Given the description of an element on the screen output the (x, y) to click on. 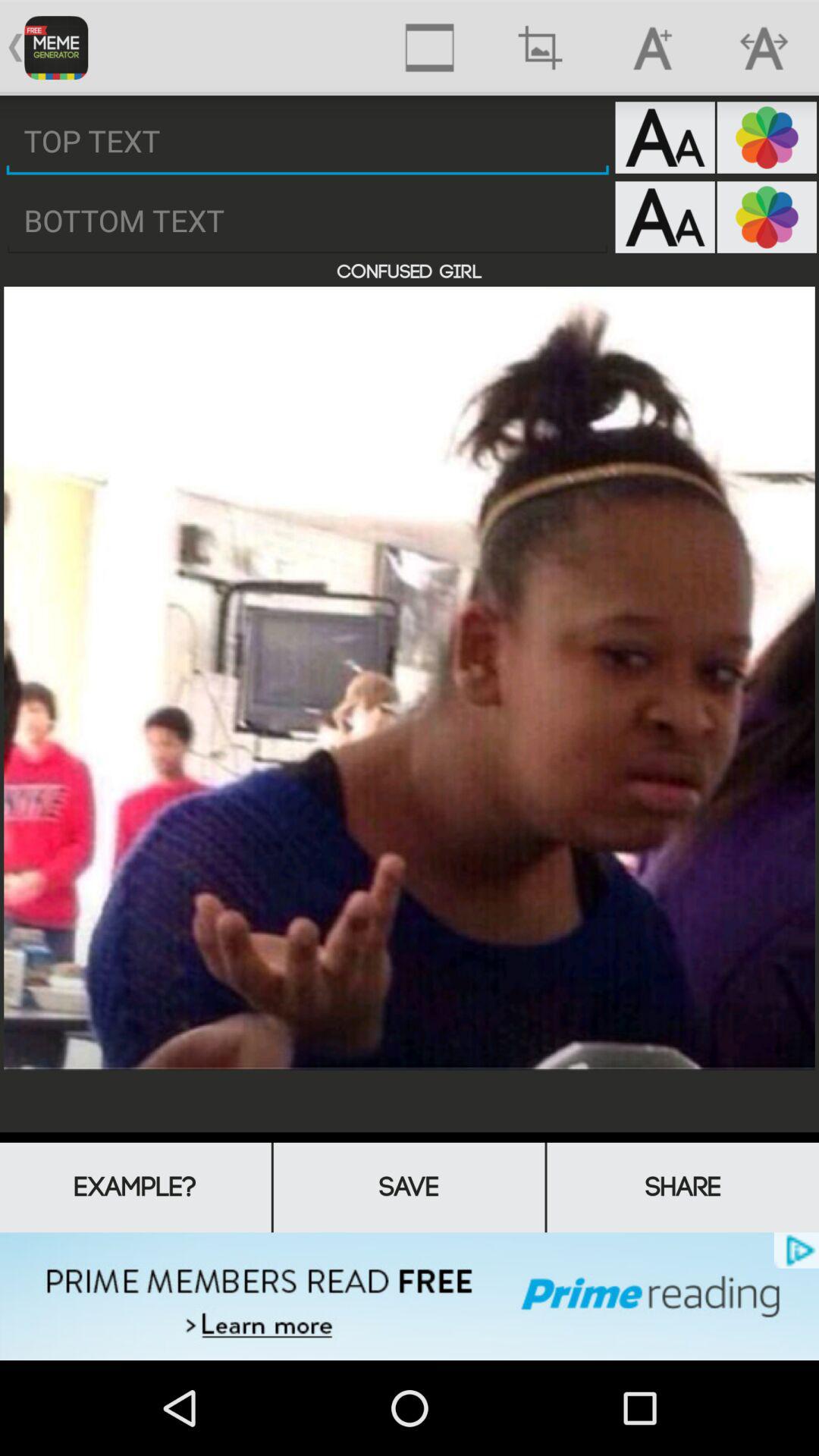
options for meme text (664, 137)
